Given the description of an element on the screen output the (x, y) to click on. 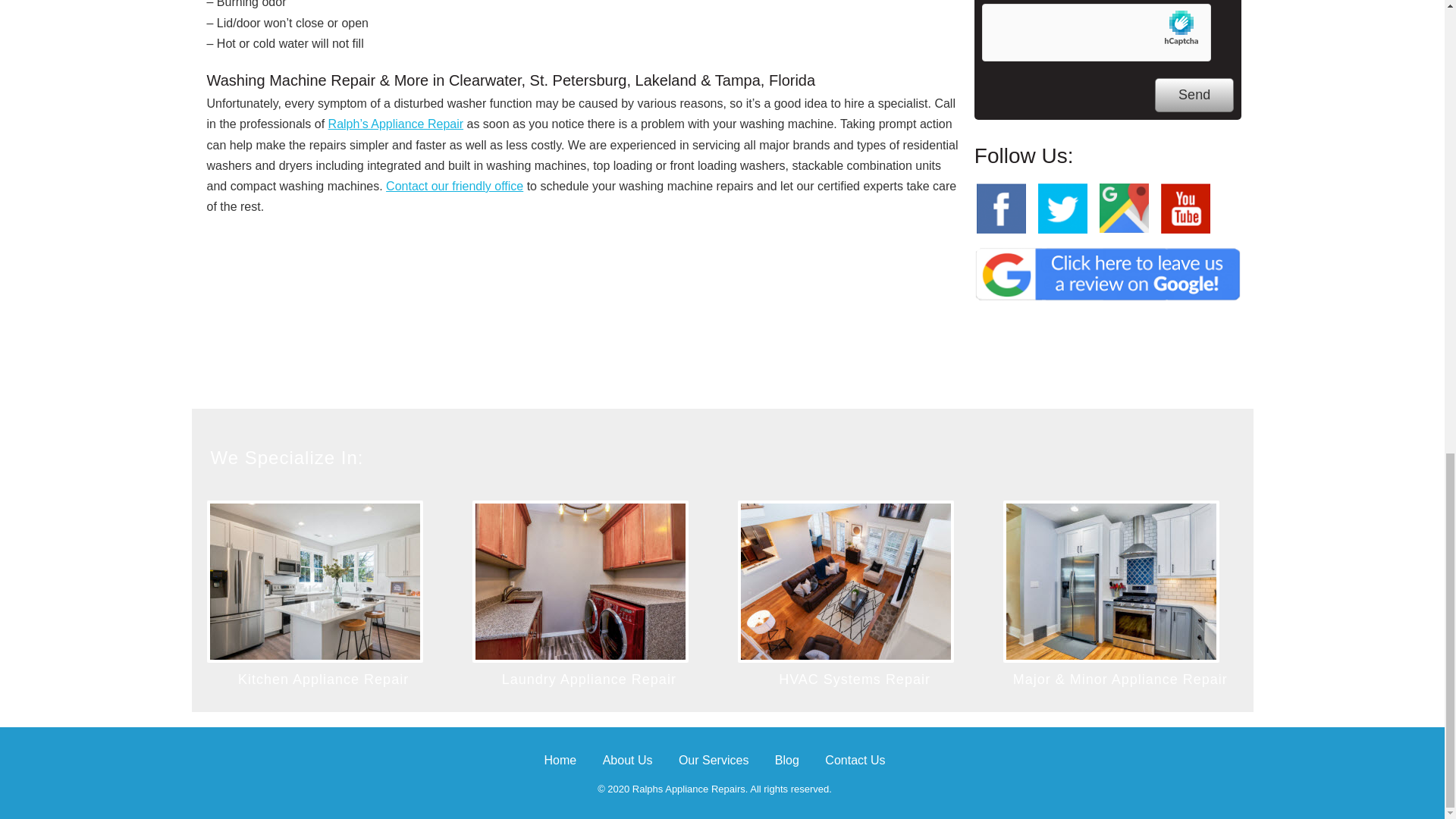
Contact Us (855, 759)
Laundry Appliance Repair (589, 679)
Send (1193, 94)
Kitchen Appliance Repair (323, 679)
Home (560, 759)
Our Services (713, 759)
Send (1193, 94)
Contact our friendly office (453, 185)
About Us (627, 759)
HVAC Systems Repair (854, 679)
Blog (786, 759)
